Given the description of an element on the screen output the (x, y) to click on. 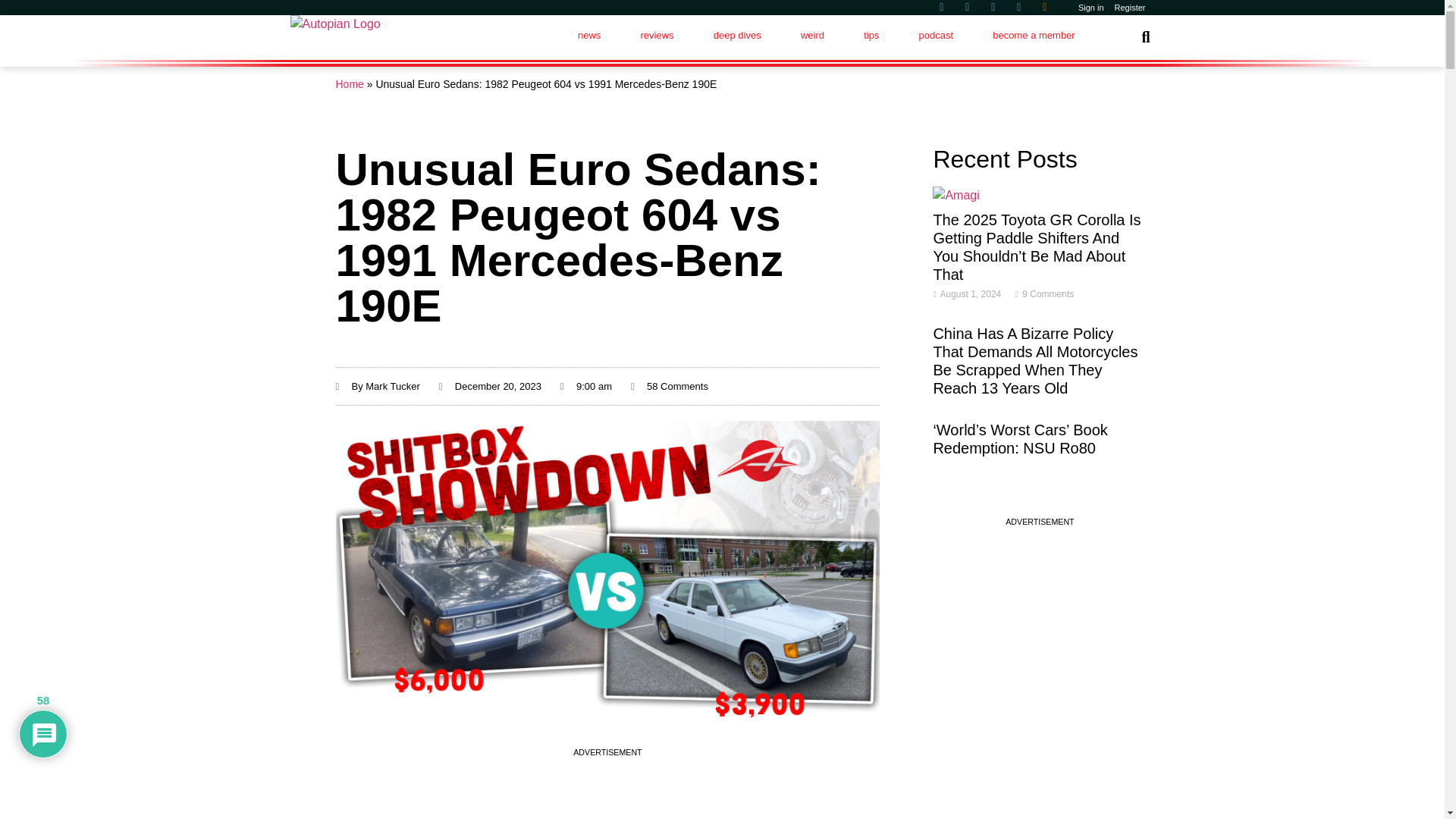
become a member (1033, 35)
podcast (935, 35)
tips (871, 35)
deep dives (737, 35)
Sign in (1091, 7)
Register (1130, 7)
weird (812, 35)
news (589, 35)
reviews (656, 35)
